Given the description of an element on the screen output the (x, y) to click on. 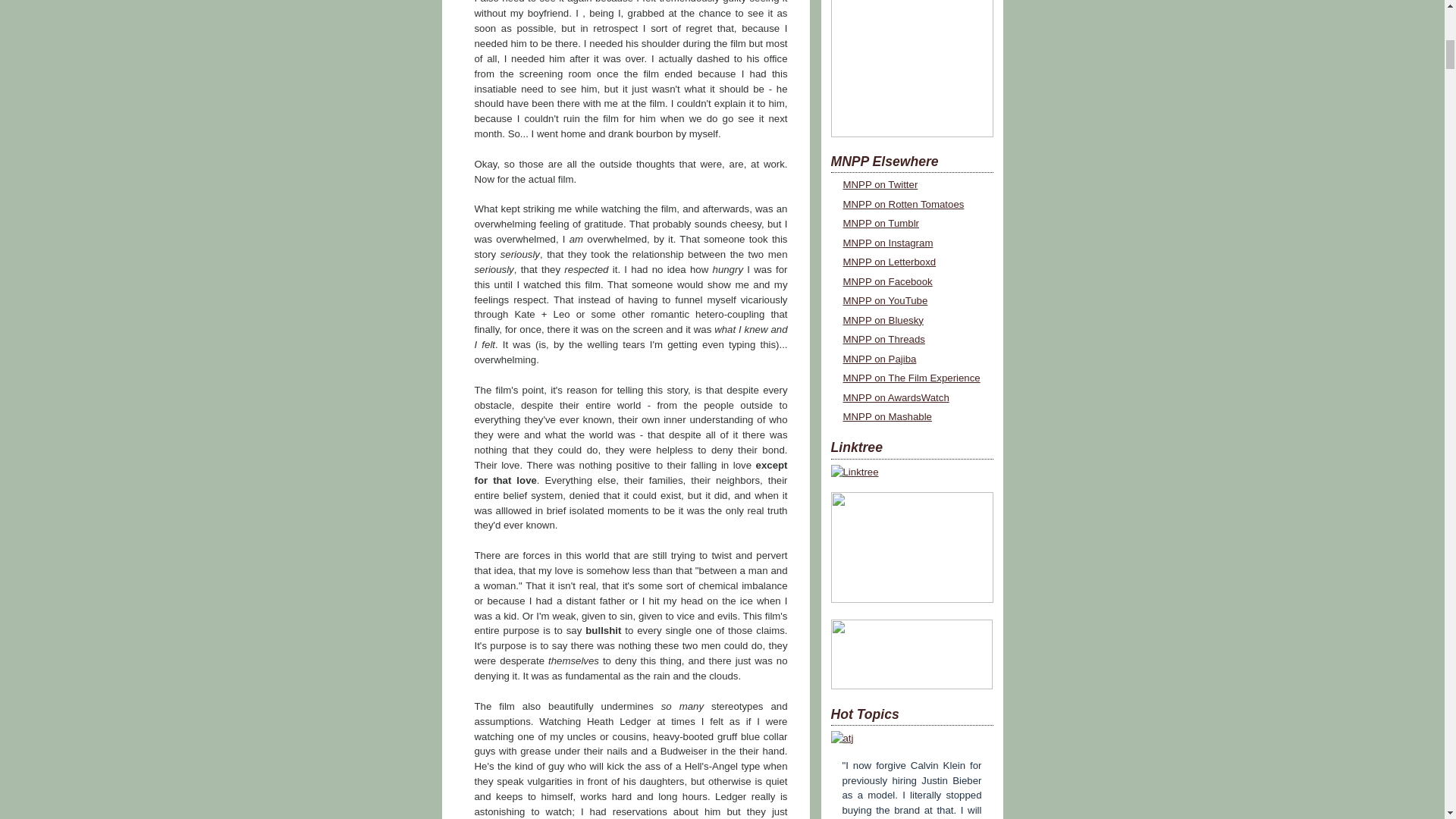
MNPP on Facebook (888, 281)
MNPP on Letterboxd (889, 261)
MNPP on Bluesky (883, 319)
MNPP on YouTube (885, 300)
MNPP on Rotten Tomatoes (903, 204)
MNPP on Twitter (880, 184)
MNPP on Threads (883, 338)
MNPP on Instagram (888, 242)
MNPP on Pajiba (880, 358)
MNPP on Tumblr (881, 223)
